Given the description of an element on the screen output the (x, y) to click on. 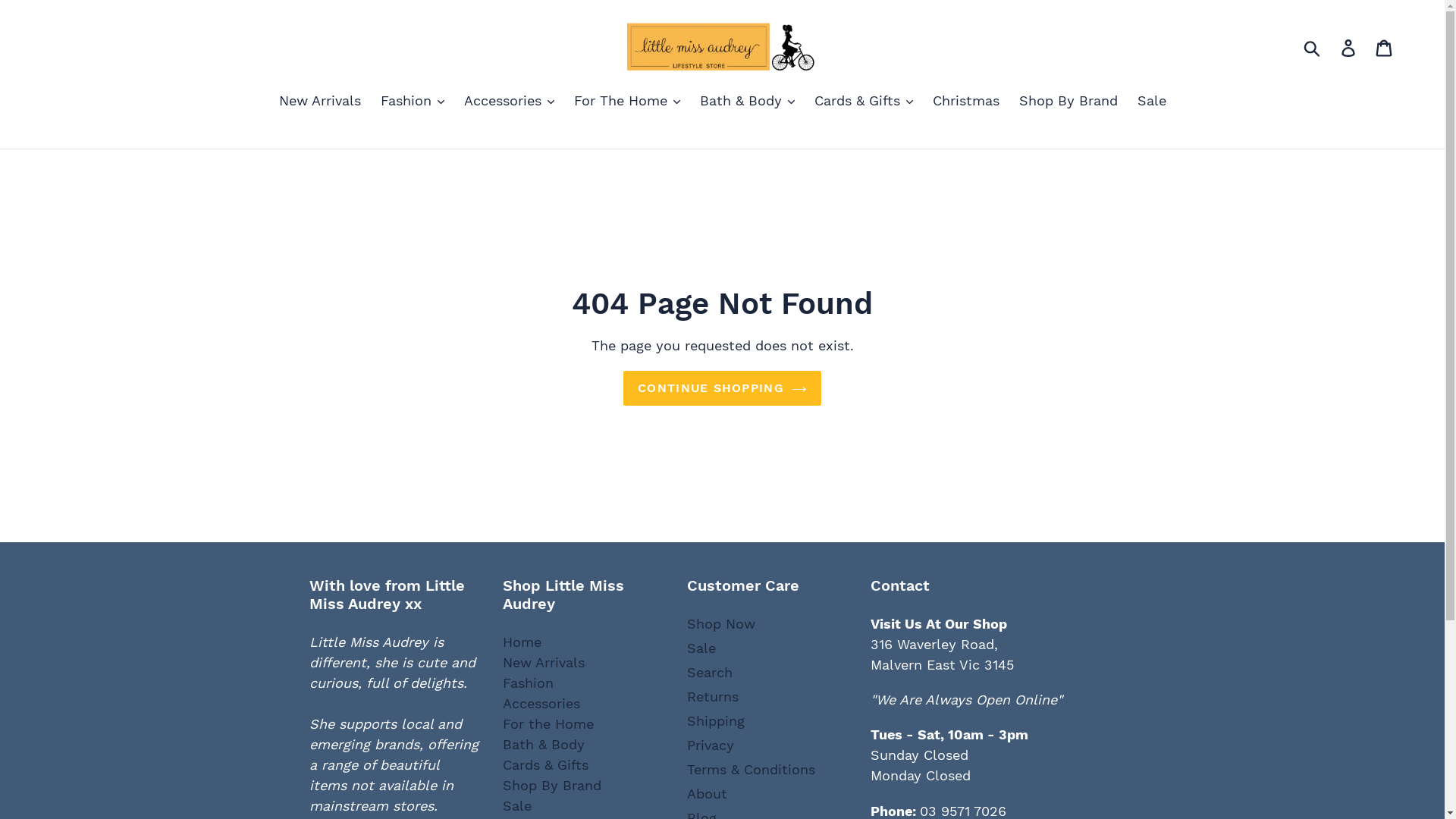
Fashion Element type: text (527, 682)
Returns Element type: text (712, 696)
Cart Element type: text (1384, 46)
Shop By Brand Element type: text (551, 785)
Sale Element type: text (701, 647)
Terms & Conditions Element type: text (751, 769)
Privacy Element type: text (710, 745)
Shipping Element type: text (715, 720)
New Arrivals Element type: text (319, 101)
Shop Now Element type: text (721, 623)
Search Element type: text (709, 672)
Accessories Element type: text (541, 703)
For the Home Element type: text (547, 723)
Bath & Body Element type: text (543, 744)
CONTINUE SHOPPING Element type: text (722, 387)
New Arrivals Element type: text (543, 662)
Submit Element type: text (1312, 46)
Christmas Element type: text (966, 101)
Home Element type: text (521, 641)
Sale Element type: text (516, 805)
Log in Element type: text (1349, 46)
About Element type: text (707, 793)
Sale Element type: text (1151, 101)
Shop By Brand Element type: text (1068, 101)
Cards & Gifts Element type: text (545, 764)
